Given the description of an element on the screen output the (x, y) to click on. 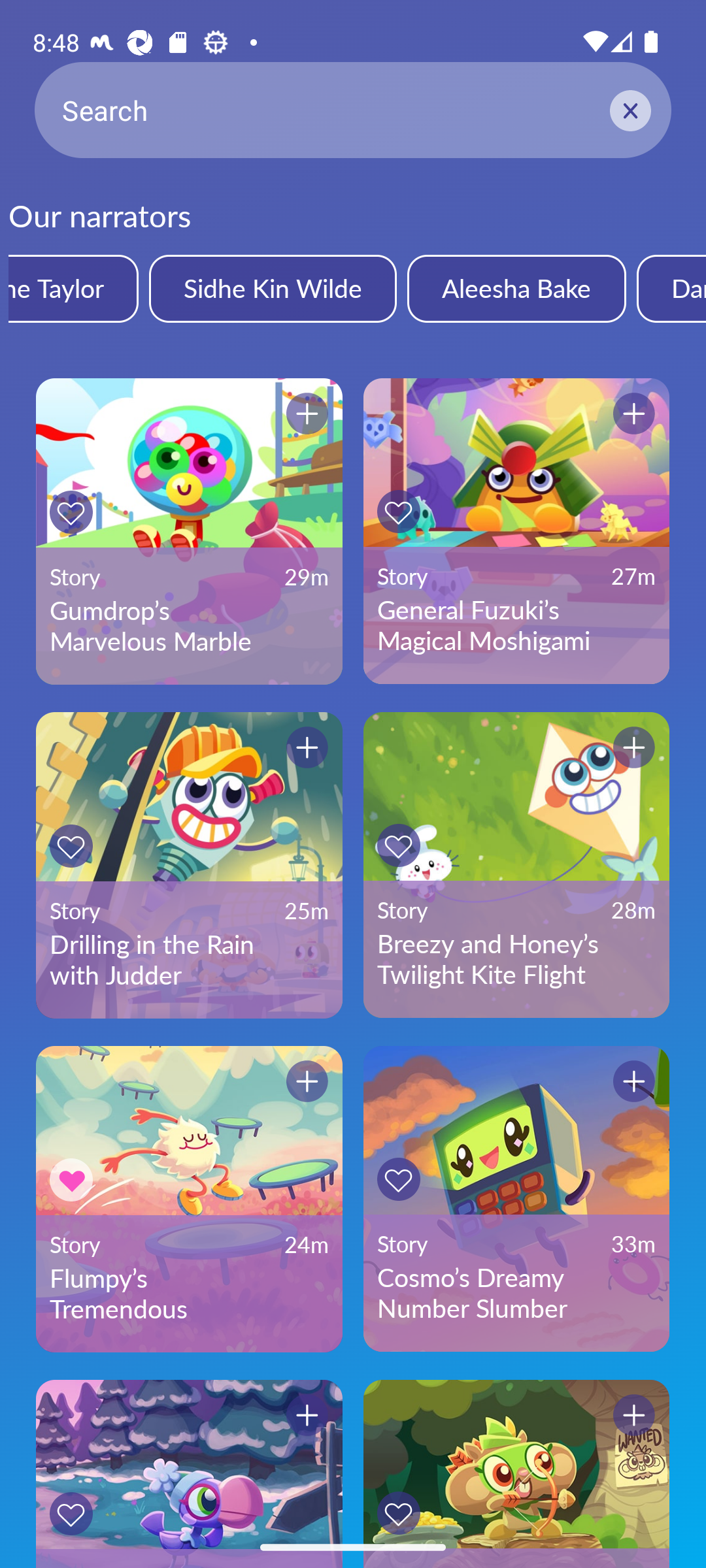
Search (352, 110)
Shane Taylor (73, 288)
Sidhe Kin Wilde (272, 288)
Aleesha Bake (516, 288)
Button (307, 413)
Button (633, 413)
Button (398, 510)
Button (71, 511)
Button (307, 746)
Button (633, 746)
Button (398, 844)
Button (71, 845)
Button (307, 1080)
Button (633, 1080)
Button (398, 1178)
Button (71, 1179)
Button (307, 1414)
Button (633, 1414)
Featured Content Button Button Story 29m (189, 1473)
Featured Content Button Button Story 26m (516, 1473)
Button (398, 1512)
Button (71, 1513)
